Given the description of an element on the screen output the (x, y) to click on. 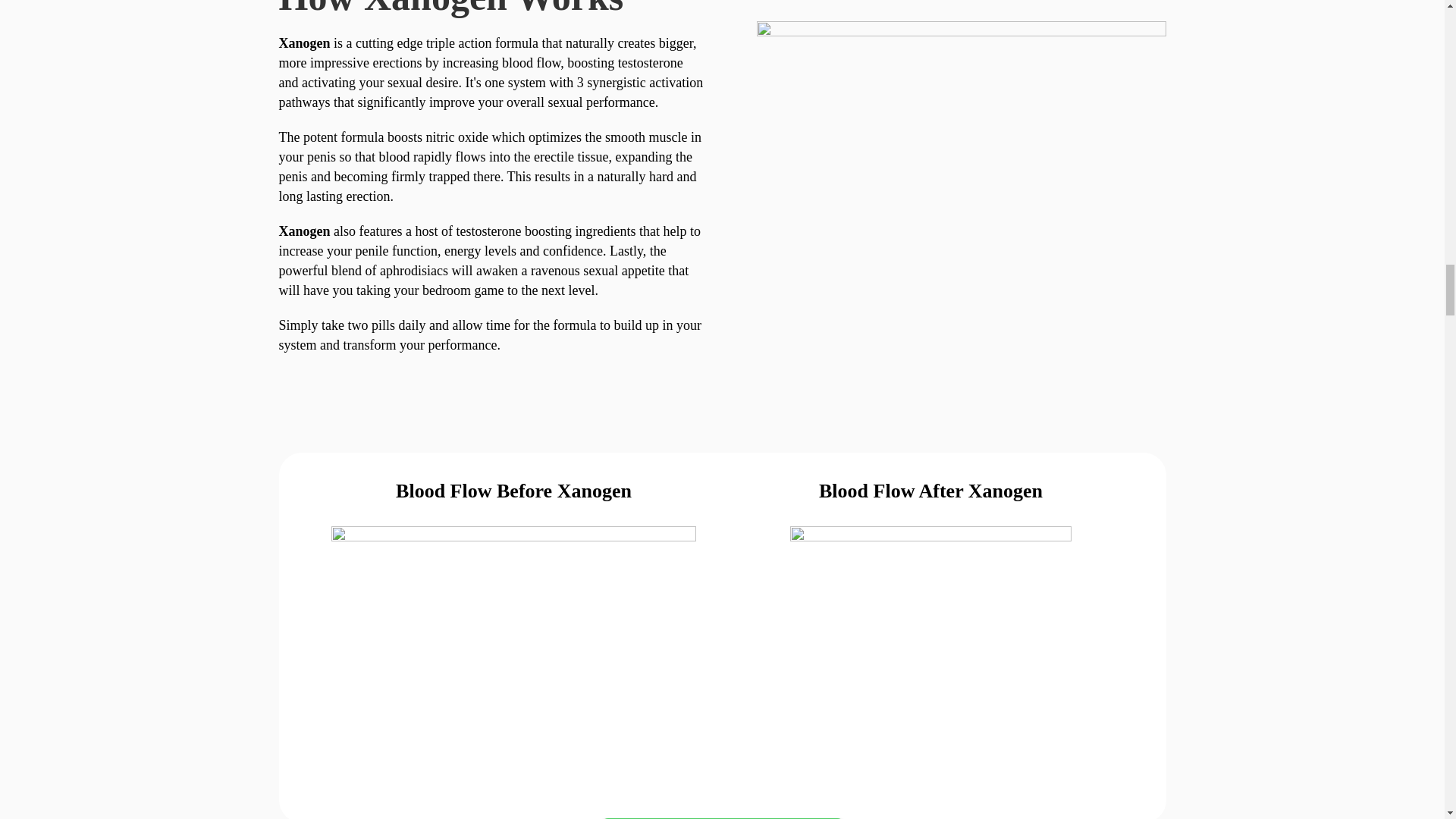
UNLOCK OFFER NOW (723, 817)
